Given the description of an element on the screen output the (x, y) to click on. 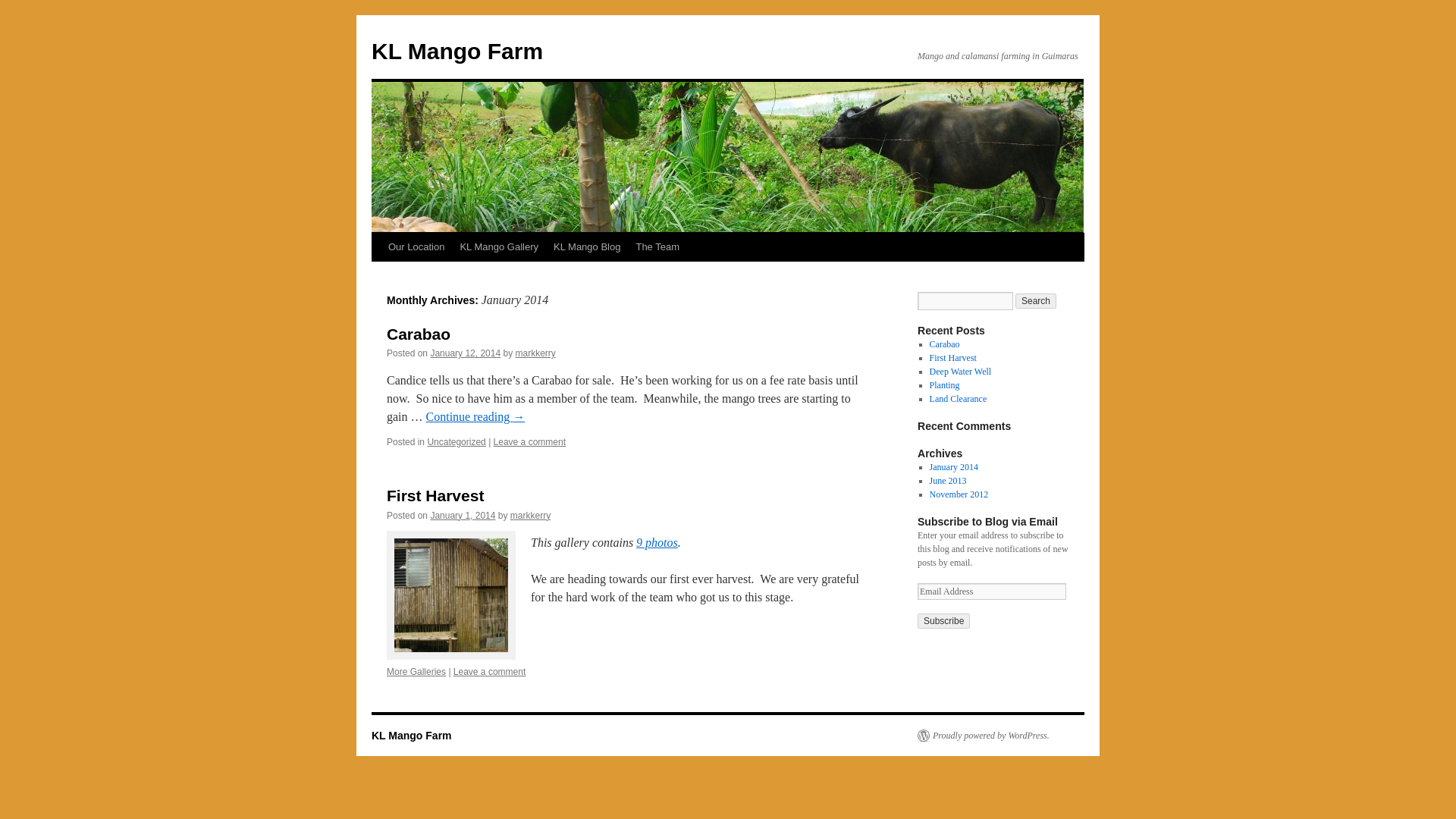
January 12, 2014 (464, 353)
First Harvest (435, 495)
markkerry (530, 515)
Carabao (418, 334)
markkerry (535, 353)
KL Mango Farm (457, 50)
6:30 pm (462, 515)
The Team (657, 246)
November 2012 (959, 493)
View Galleries (416, 671)
